Given the description of an element on the screen output the (x, y) to click on. 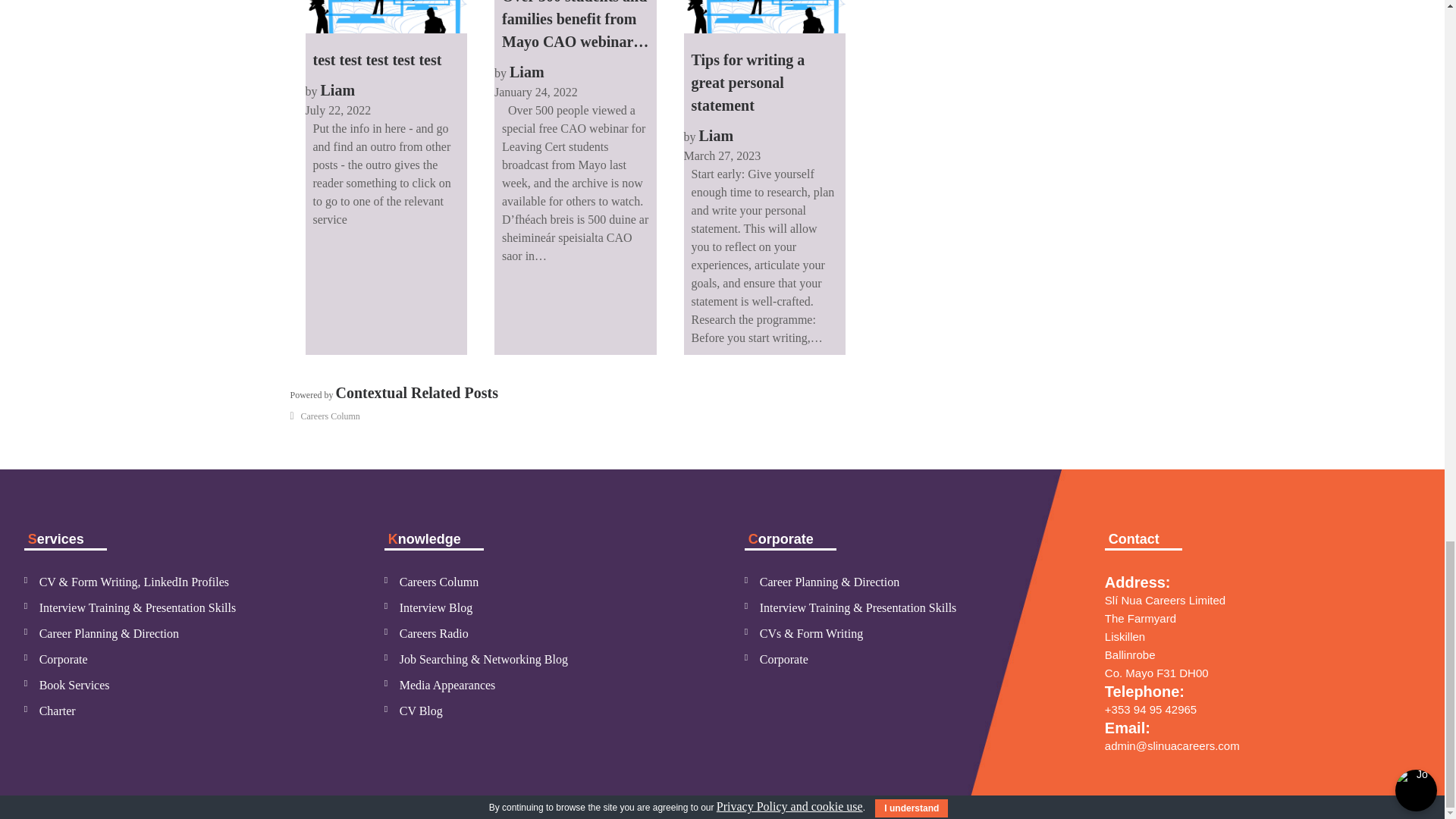
Liam (337, 89)
Tips for writing a great personal statement (764, 17)
test test test test test (385, 39)
test test test test test (385, 17)
